Given the description of an element on the screen output the (x, y) to click on. 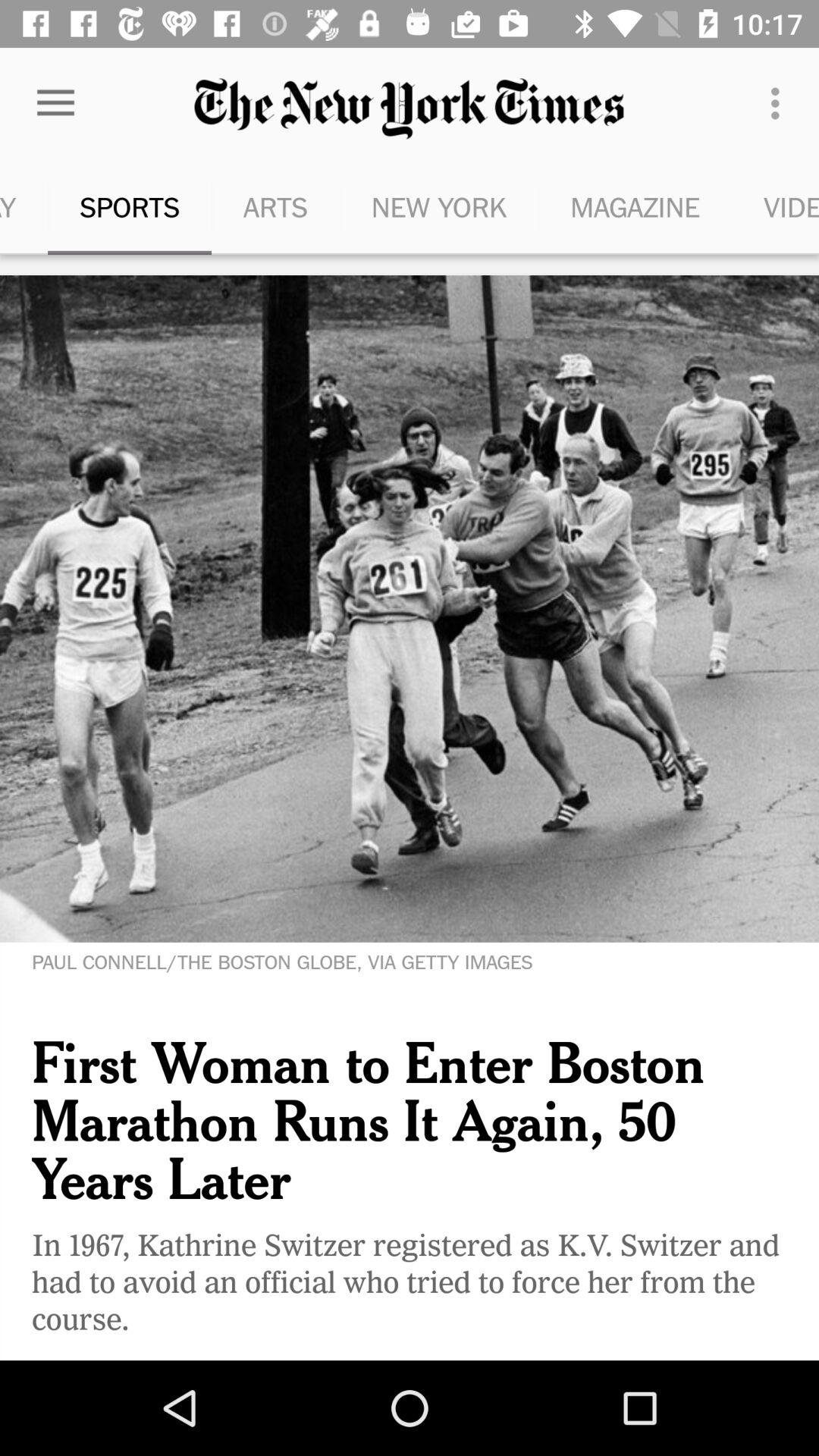
tap item next to business day icon (129, 206)
